Given the description of an element on the screen output the (x, y) to click on. 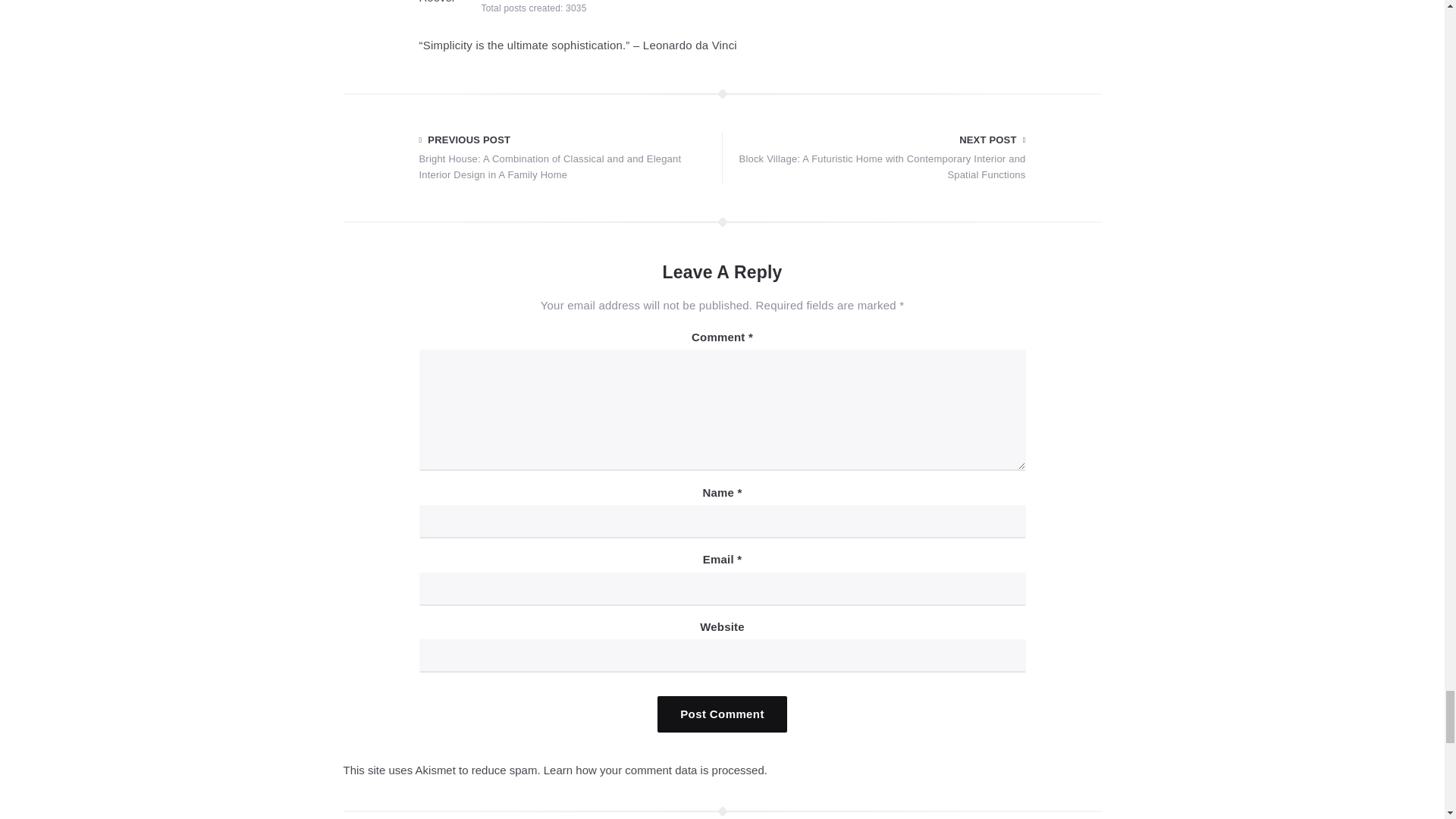
Post comment (722, 714)
